Given the description of an element on the screen output the (x, y) to click on. 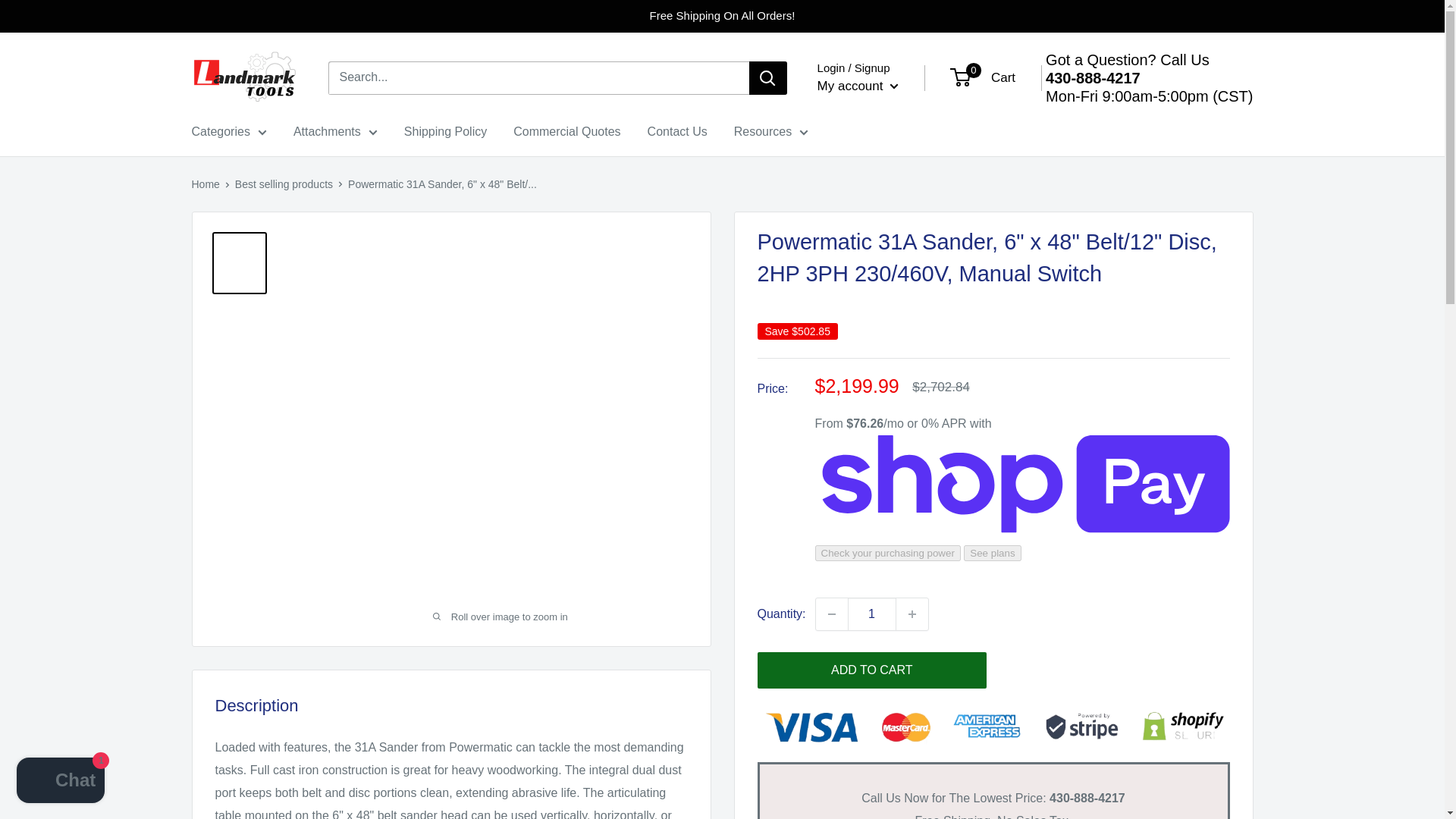
Increase quantity by 1 (912, 613)
Shopify online store chat (60, 781)
Decrease quantity by 1 (831, 613)
1 (871, 613)
